Given the description of an element on the screen output the (x, y) to click on. 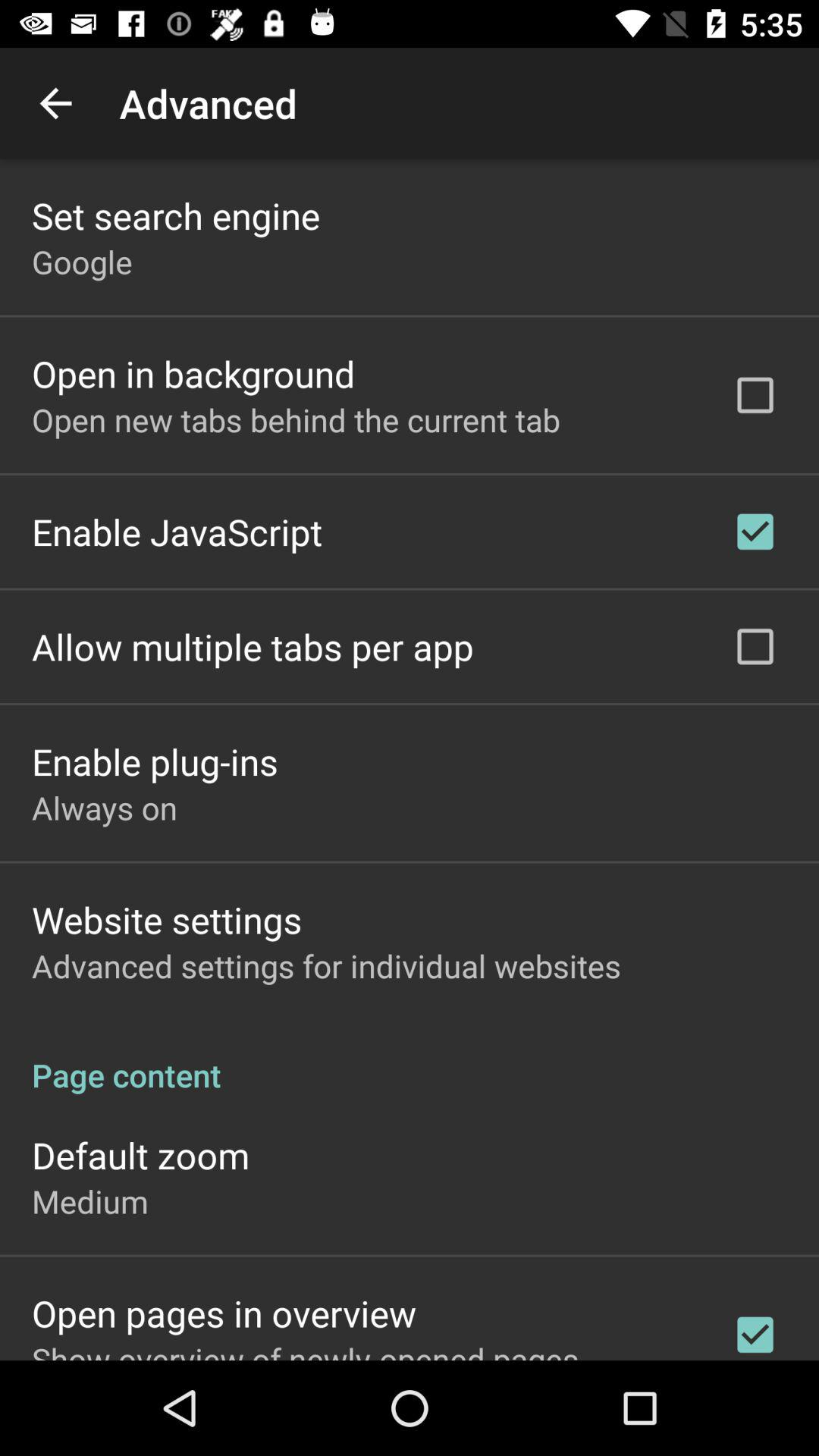
jump until enable javascript item (176, 531)
